Given the description of an element on the screen output the (x, y) to click on. 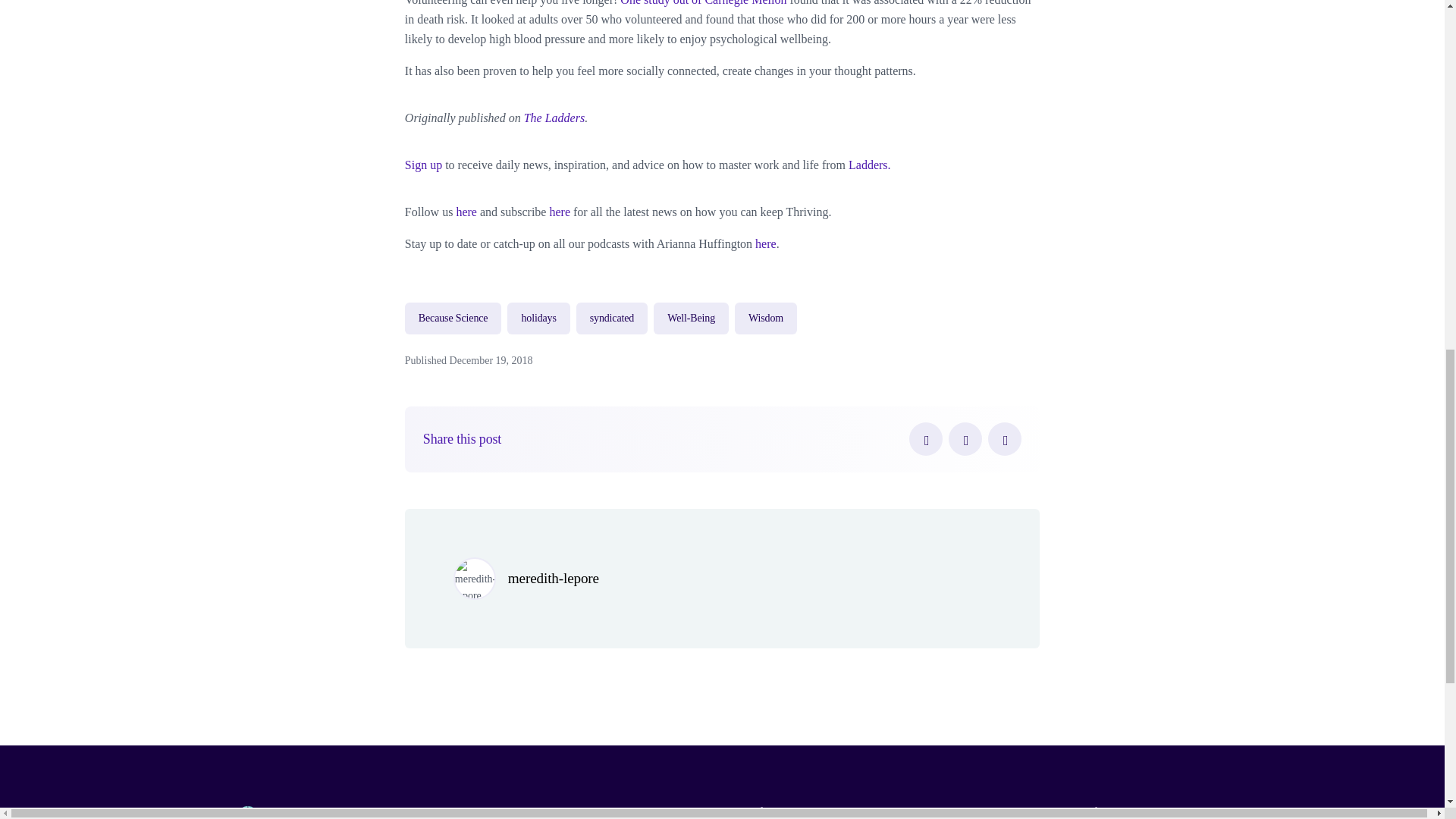
meredith-lepore (553, 578)
LinkedIn (1005, 438)
Facebook (925, 438)
Twitter (965, 438)
